Given the description of an element on the screen output the (x, y) to click on. 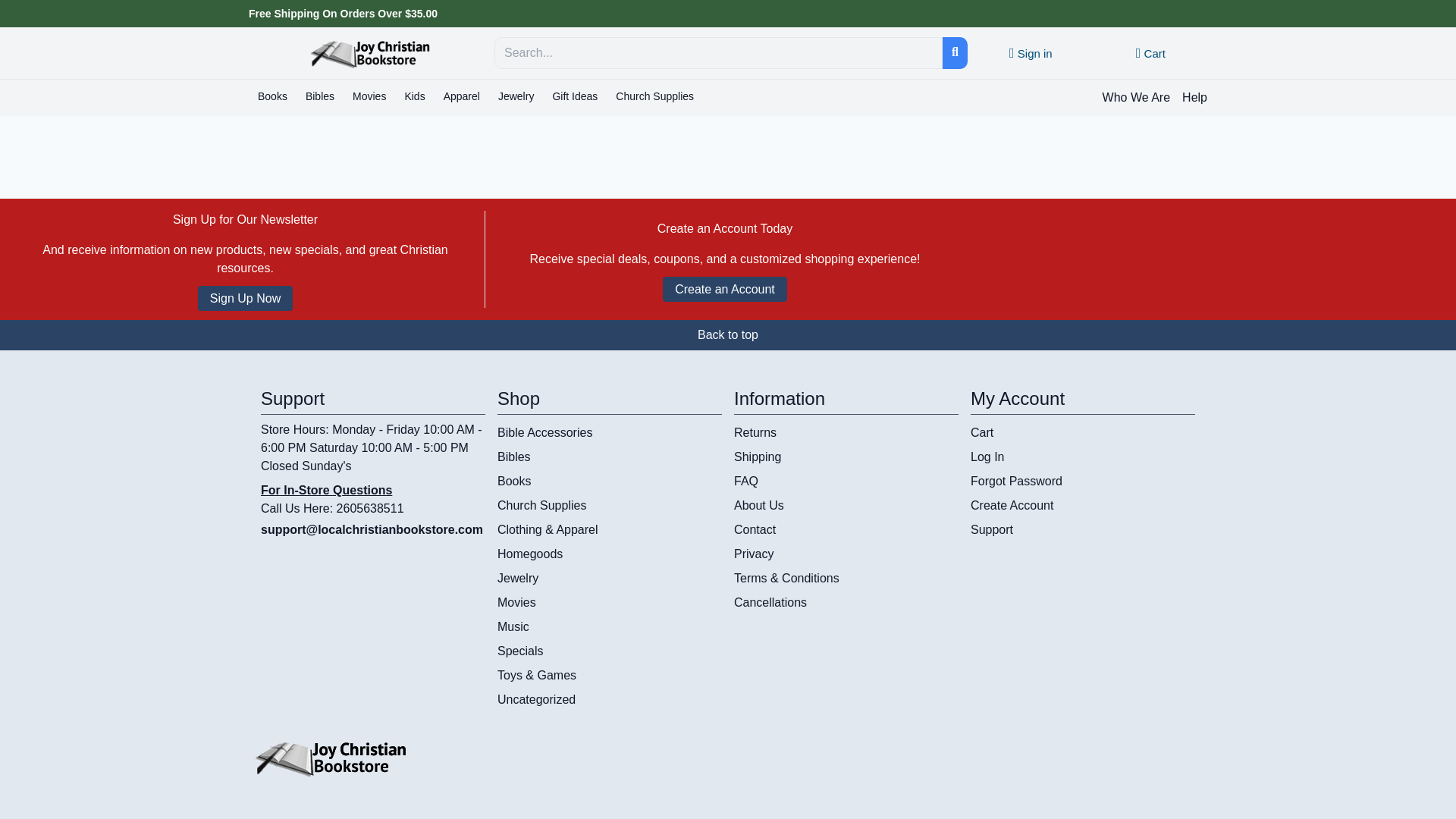
Books (272, 97)
Sign in (1030, 52)
